Given the description of an element on the screen output the (x, y) to click on. 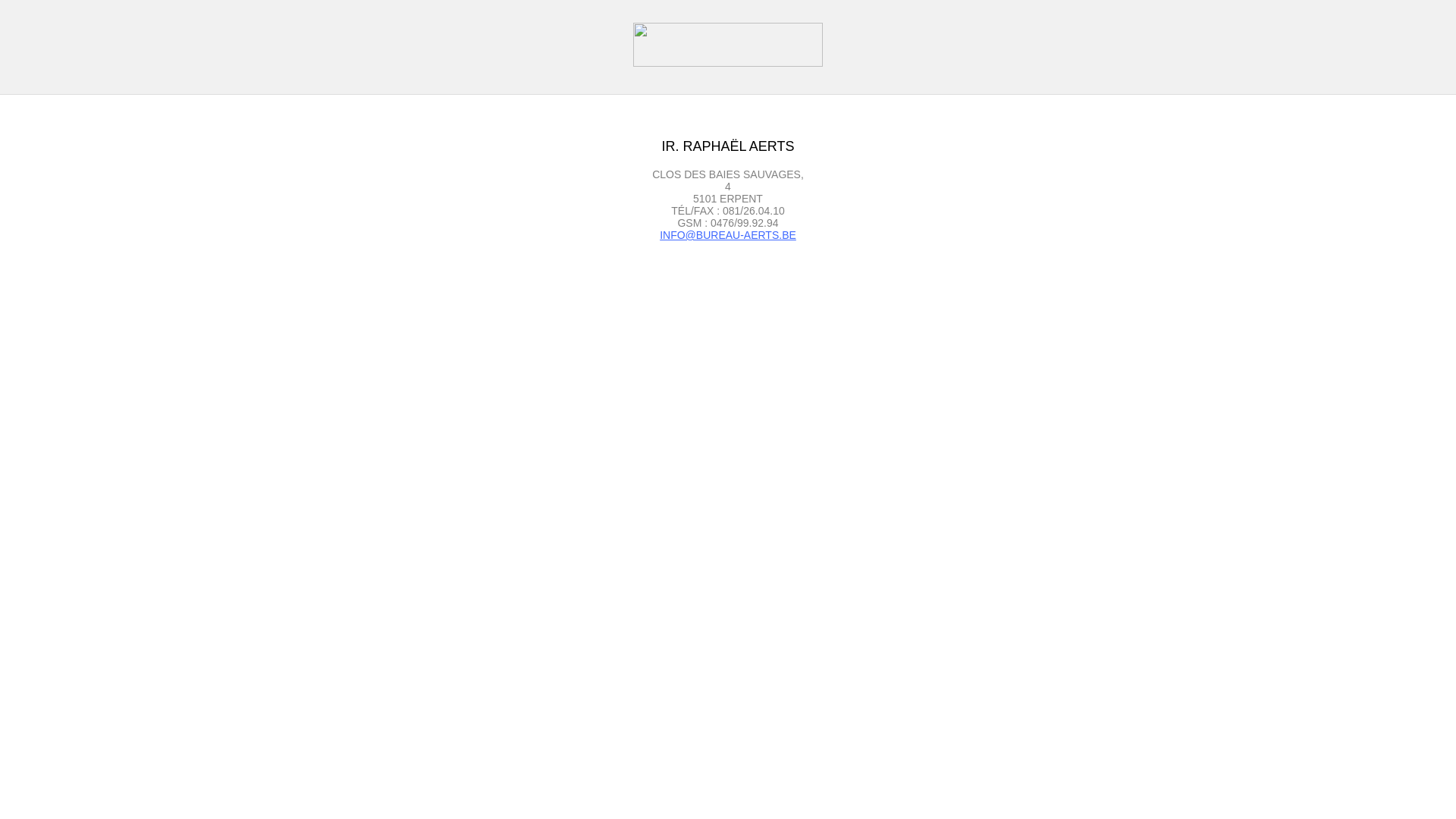
INFO@BUREAU-AERTS.BE Element type: text (727, 235)
